Given the description of an element on the screen output the (x, y) to click on. 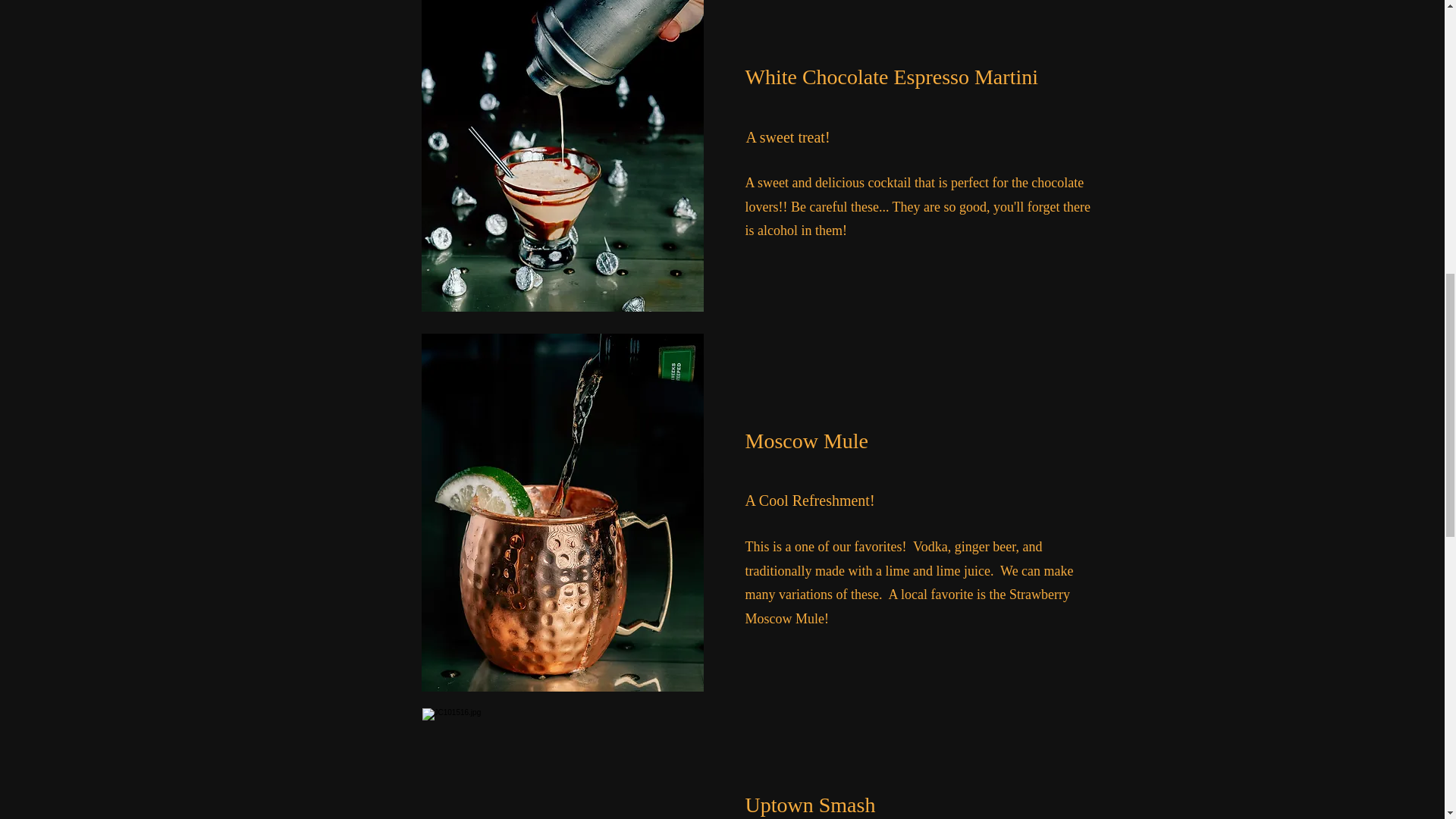
Whte Chocolate Espresso Martinia (562, 156)
